Given the description of an element on the screen output the (x, y) to click on. 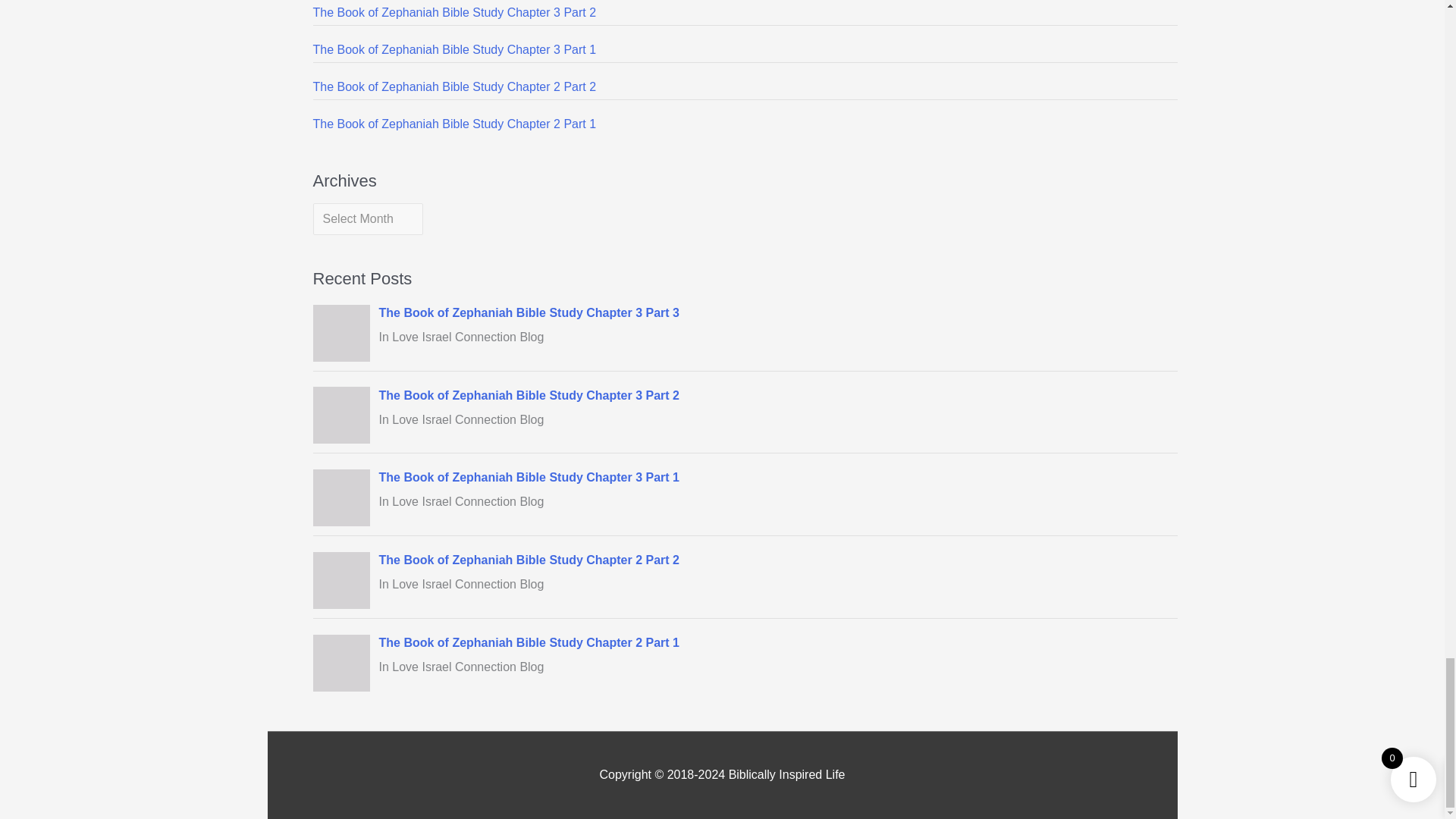
The Book of Zephaniah Bible Study Chapter 3 Part 1 (454, 49)
The Book of Zephaniah Bible Study Chapter 3 Part 2 (454, 11)
